Given the description of an element on the screen output the (x, y) to click on. 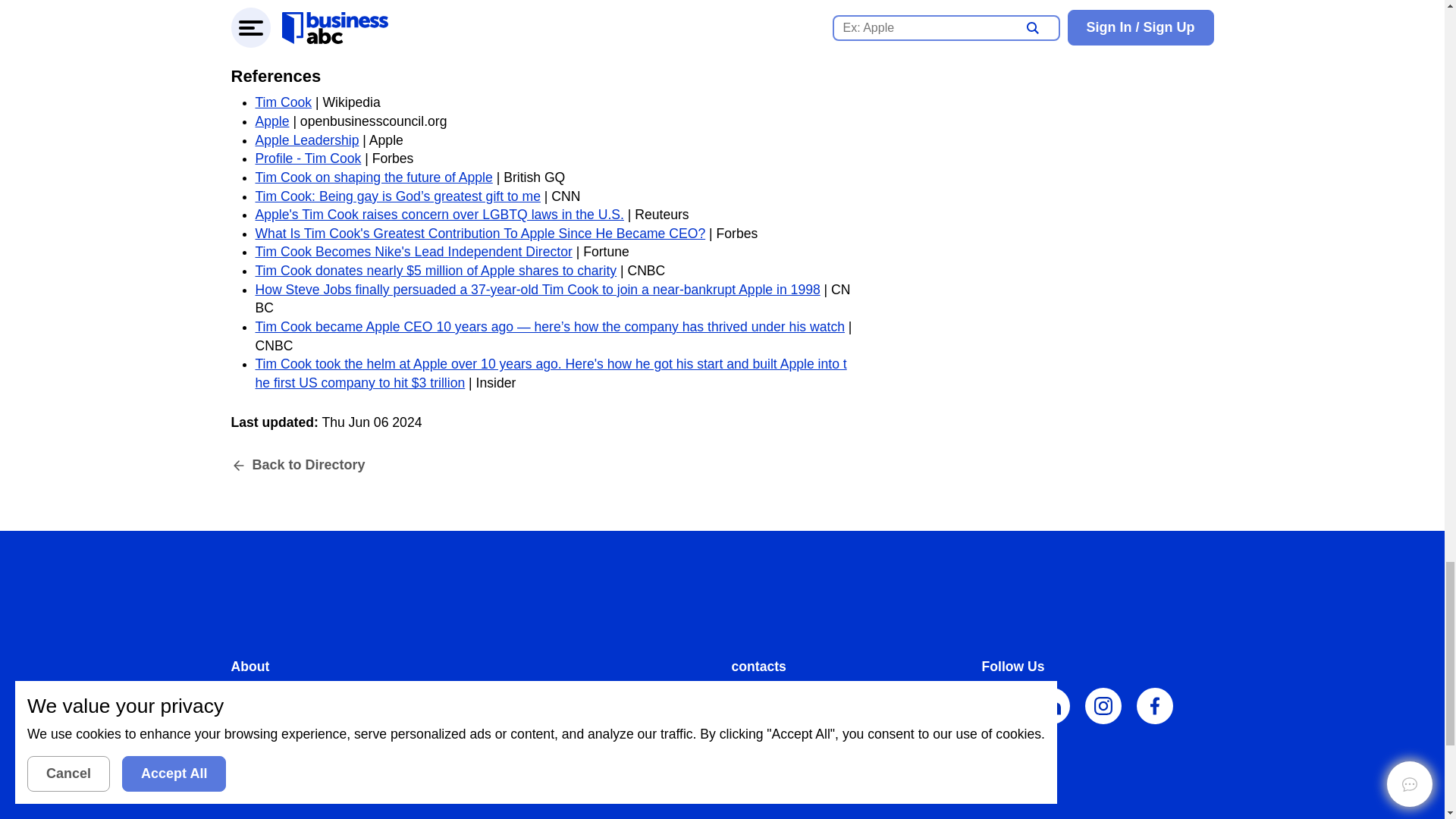
Profile - Tim Cook (307, 158)
Tim Cook (282, 102)
Apple (271, 120)
Tim Cook on shaping the future of Apple (373, 177)
Apple Leadership (306, 140)
